Given the description of an element on the screen output the (x, y) to click on. 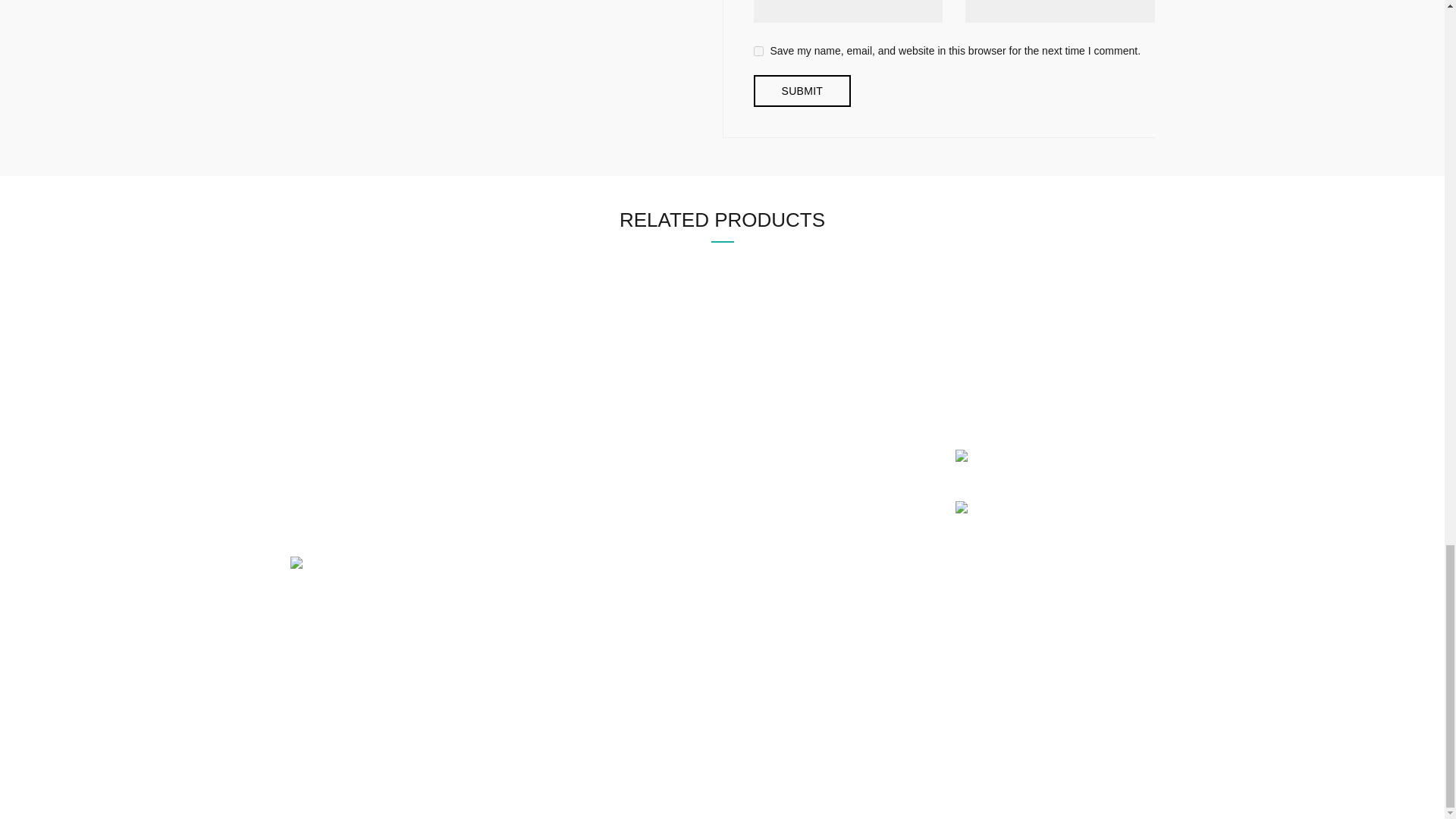
Submit (802, 91)
DMCA.com Protection Status (364, 563)
Jacket In Leather (721, 327)
yes (758, 50)
